Given the description of an element on the screen output the (x, y) to click on. 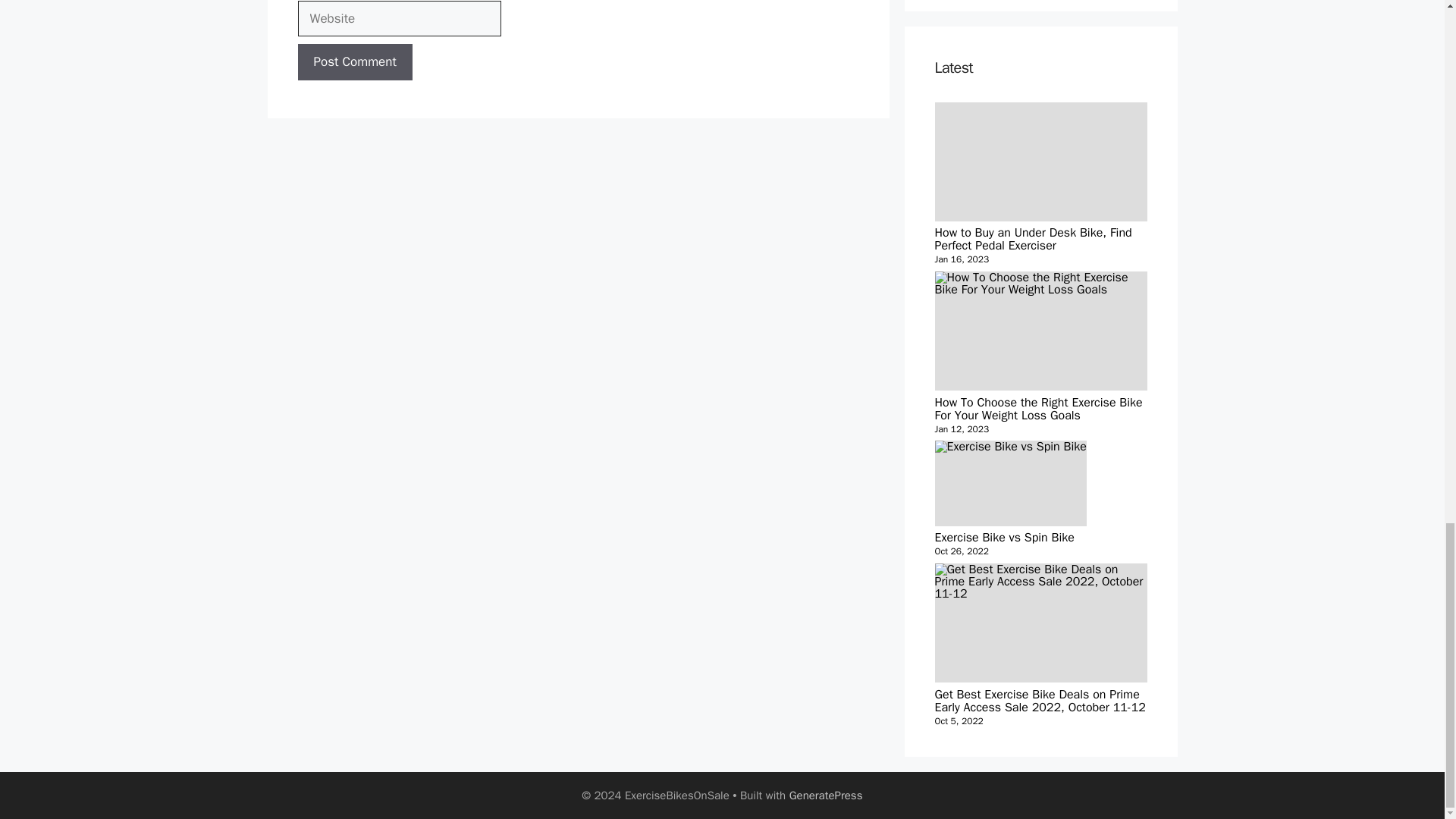
Exercise Bike vs Spin Bike (1010, 446)
How to Buy an Under Desk Bike, Find Perfect Pedal Exerciser (1010, 498)
GeneratePress (1040, 161)
Post Comment (826, 795)
Post Comment (354, 62)
